Given the description of an element on the screen output the (x, y) to click on. 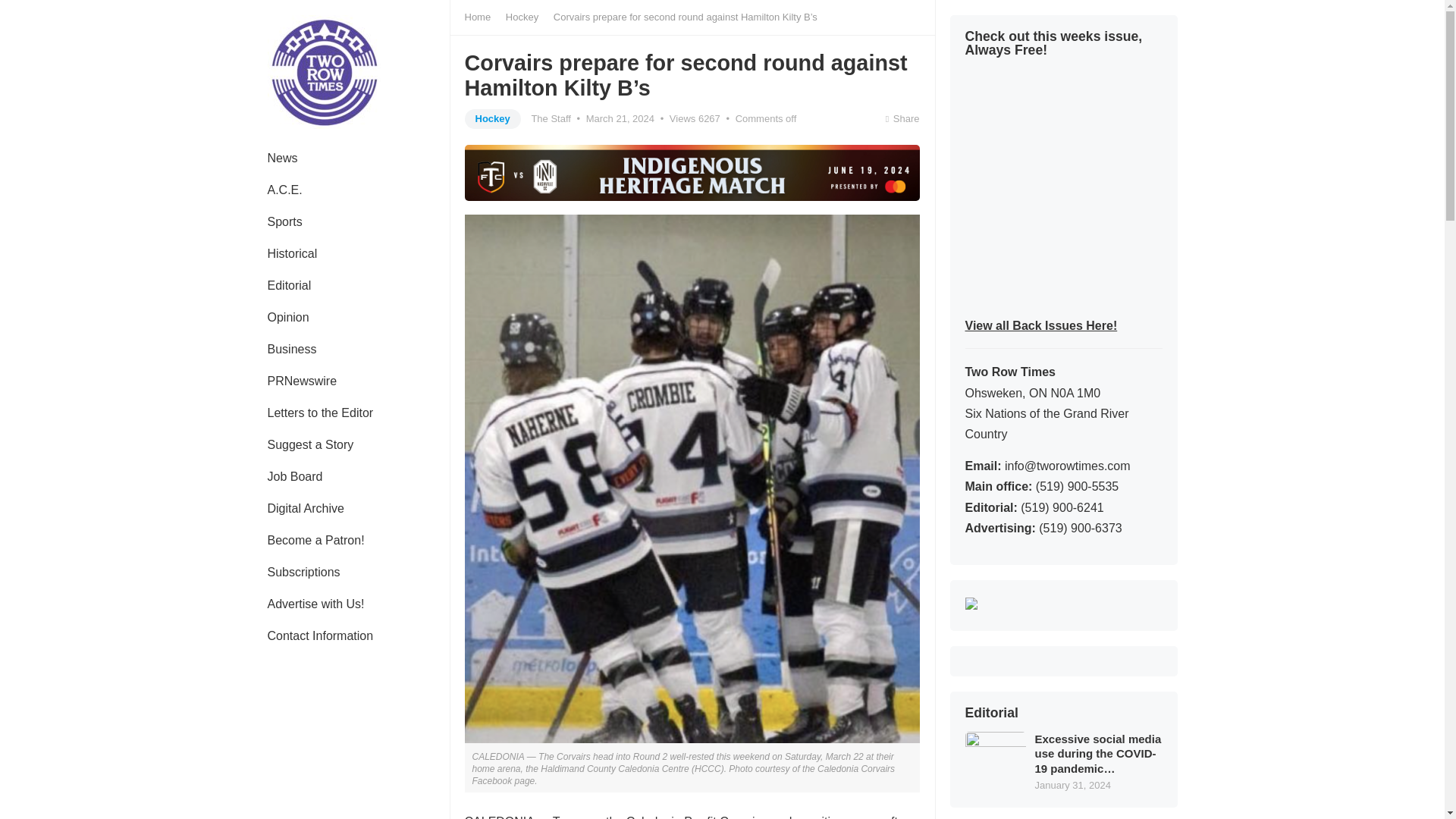
Contact Information (319, 635)
Editorial (288, 286)
Business (291, 349)
A.C.E. (284, 190)
Digital Archive (304, 508)
Posts by The Staff (550, 118)
Suggest a Story (309, 445)
Job Board (294, 477)
News (282, 158)
Advertise with Us! (314, 603)
